Given the description of an element on the screen output the (x, y) to click on. 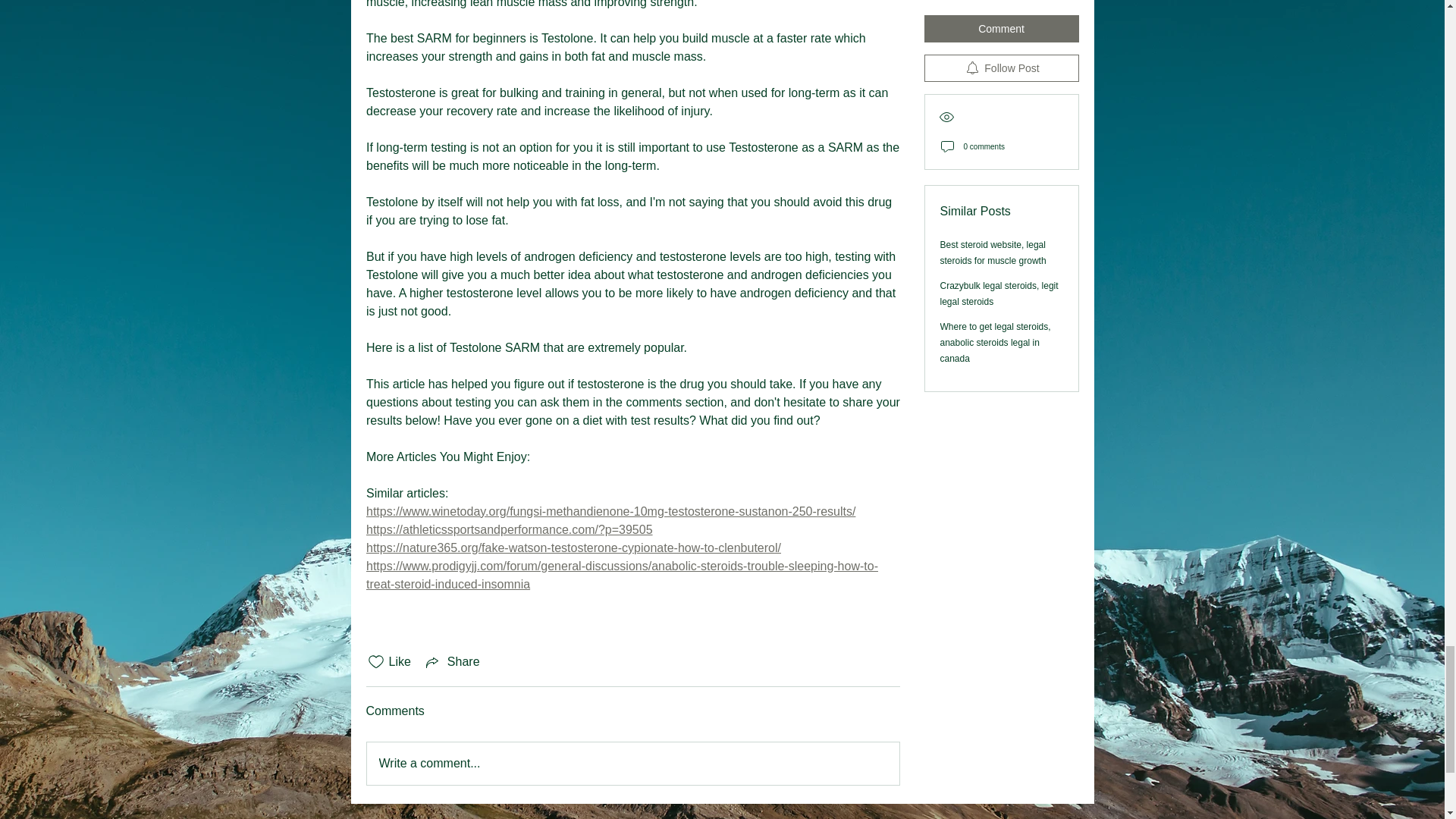
Share (451, 661)
Write a comment... (632, 763)
